Given the description of an element on the screen output the (x, y) to click on. 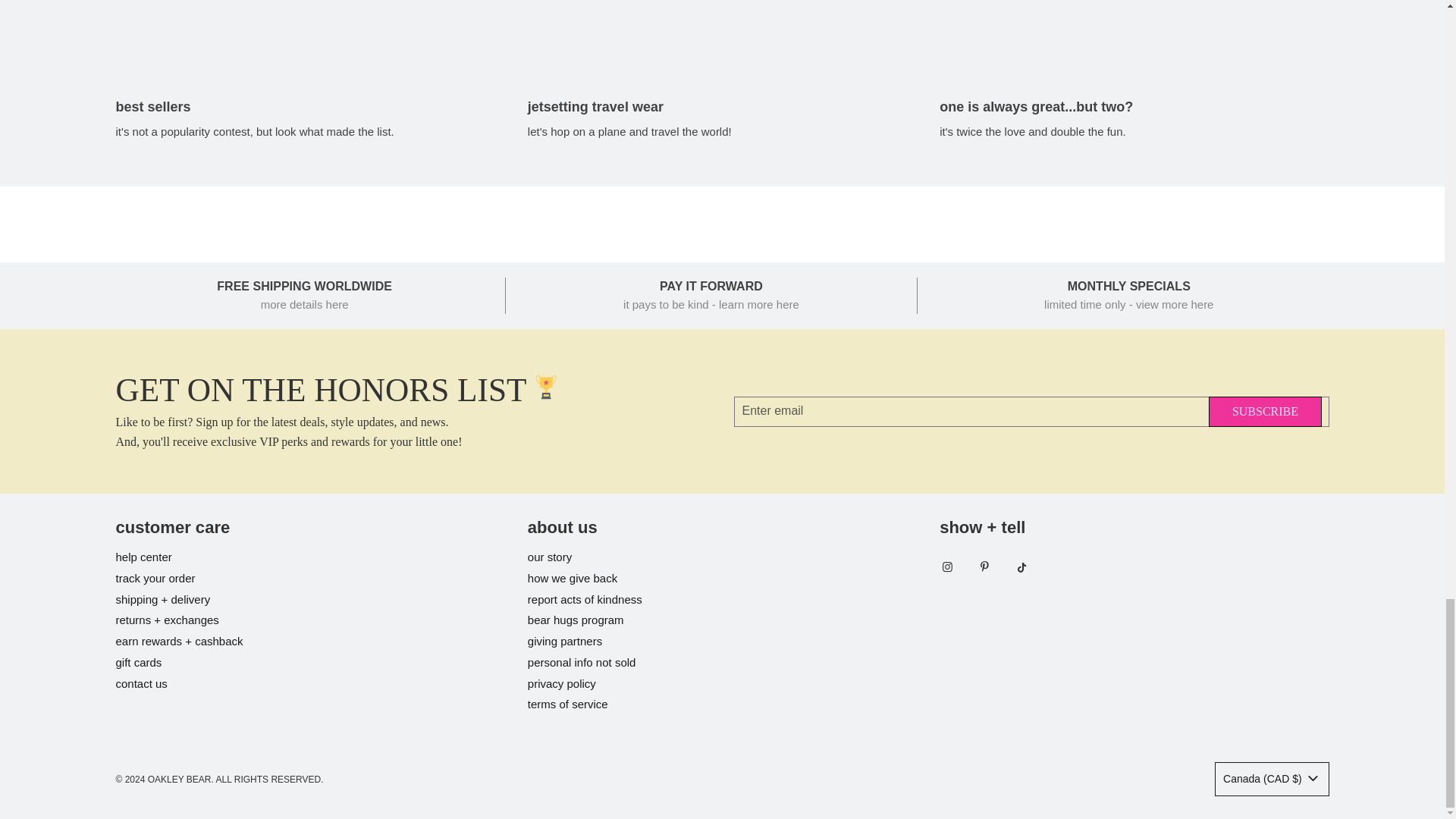
subscribe (1265, 411)
